Given the description of an element on the screen output the (x, y) to click on. 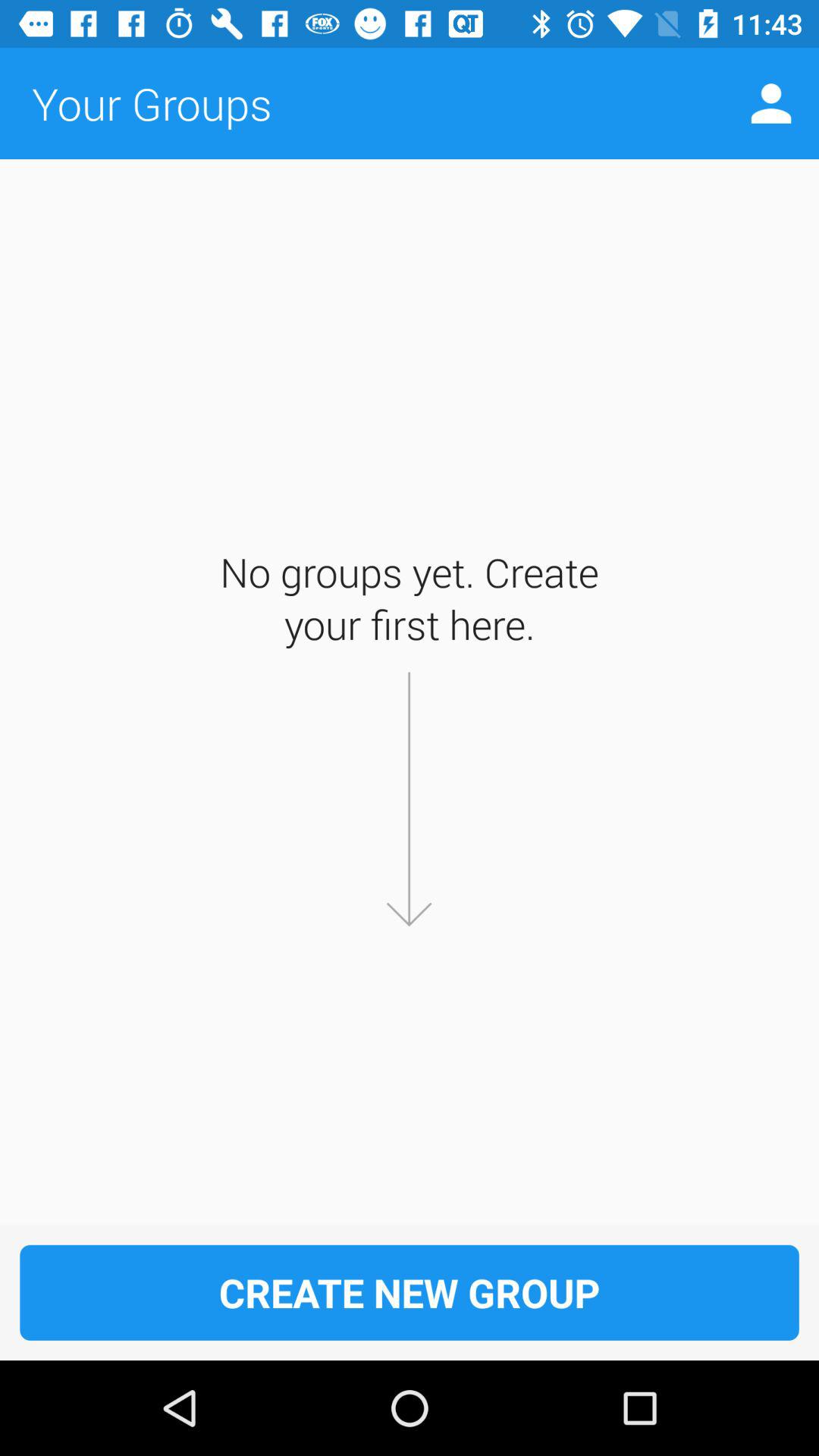
turn off the item at the top right corner (771, 103)
